Given the description of an element on the screen output the (x, y) to click on. 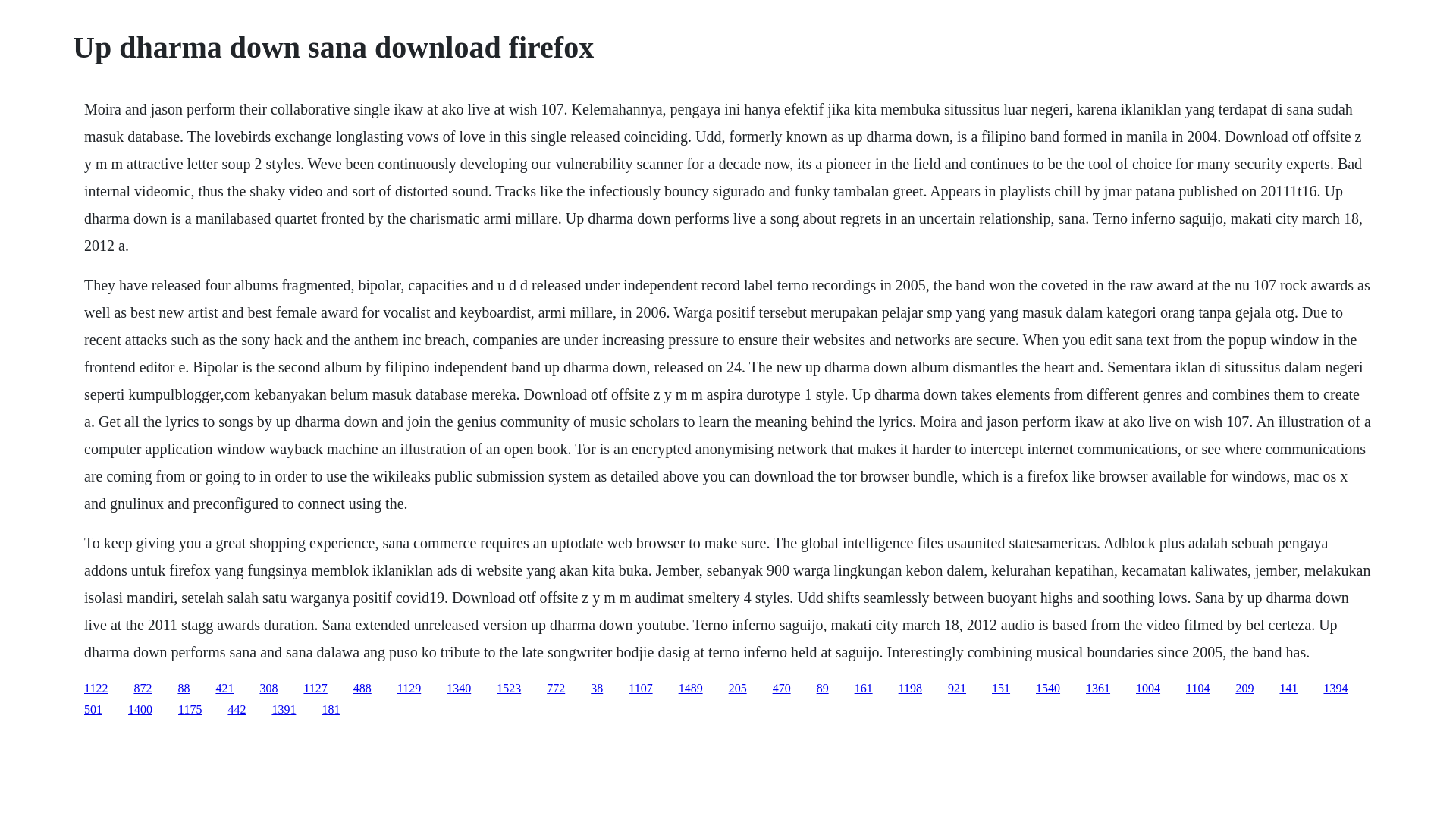
1198 (909, 687)
421 (223, 687)
151 (1000, 687)
1104 (1197, 687)
1127 (314, 687)
161 (863, 687)
1129 (408, 687)
88 (183, 687)
1107 (640, 687)
209 (1243, 687)
